Given the description of an element on the screen output the (x, y) to click on. 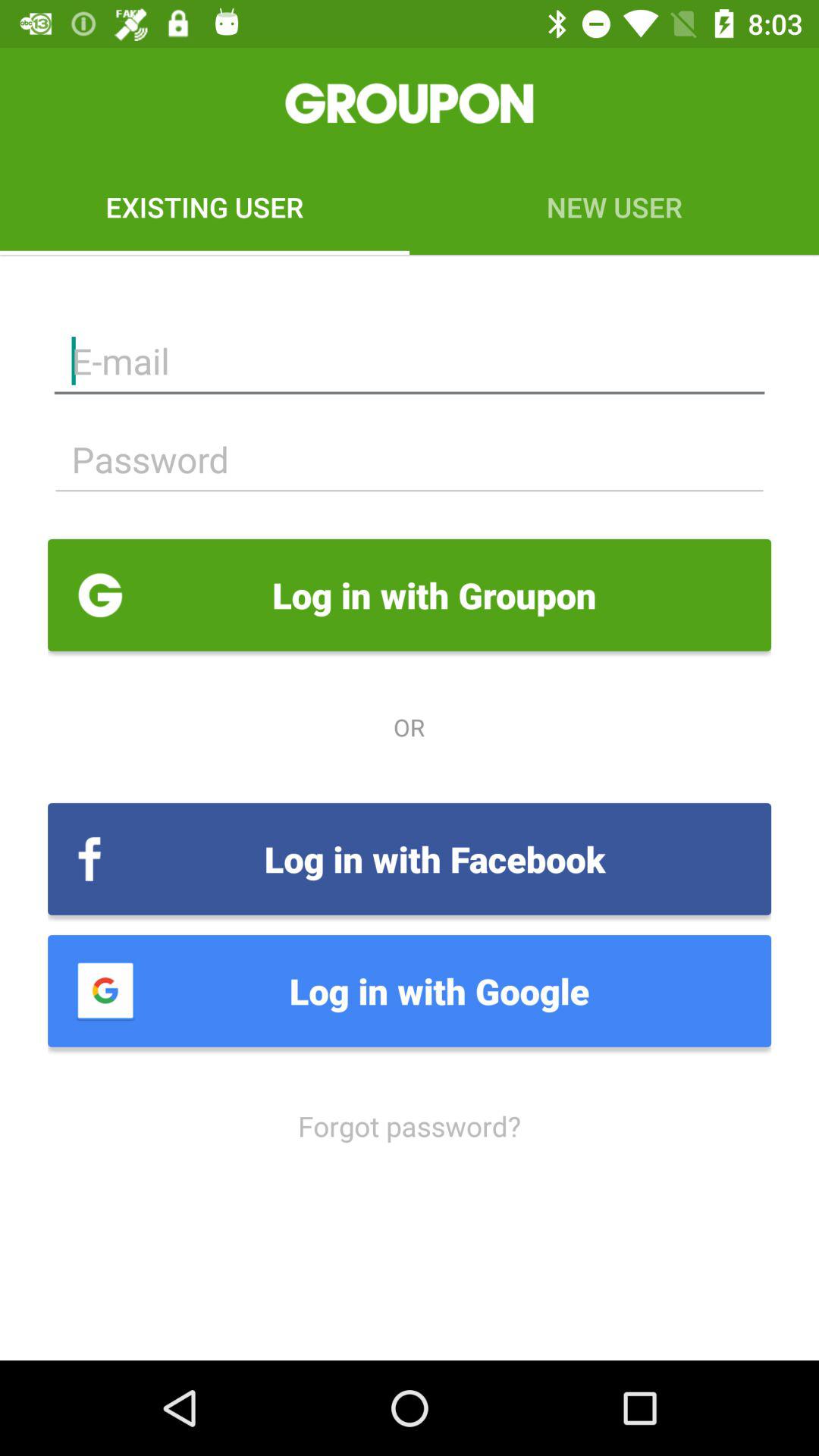
flip until the forgot password? (409, 1126)
